Given the description of an element on the screen output the (x, y) to click on. 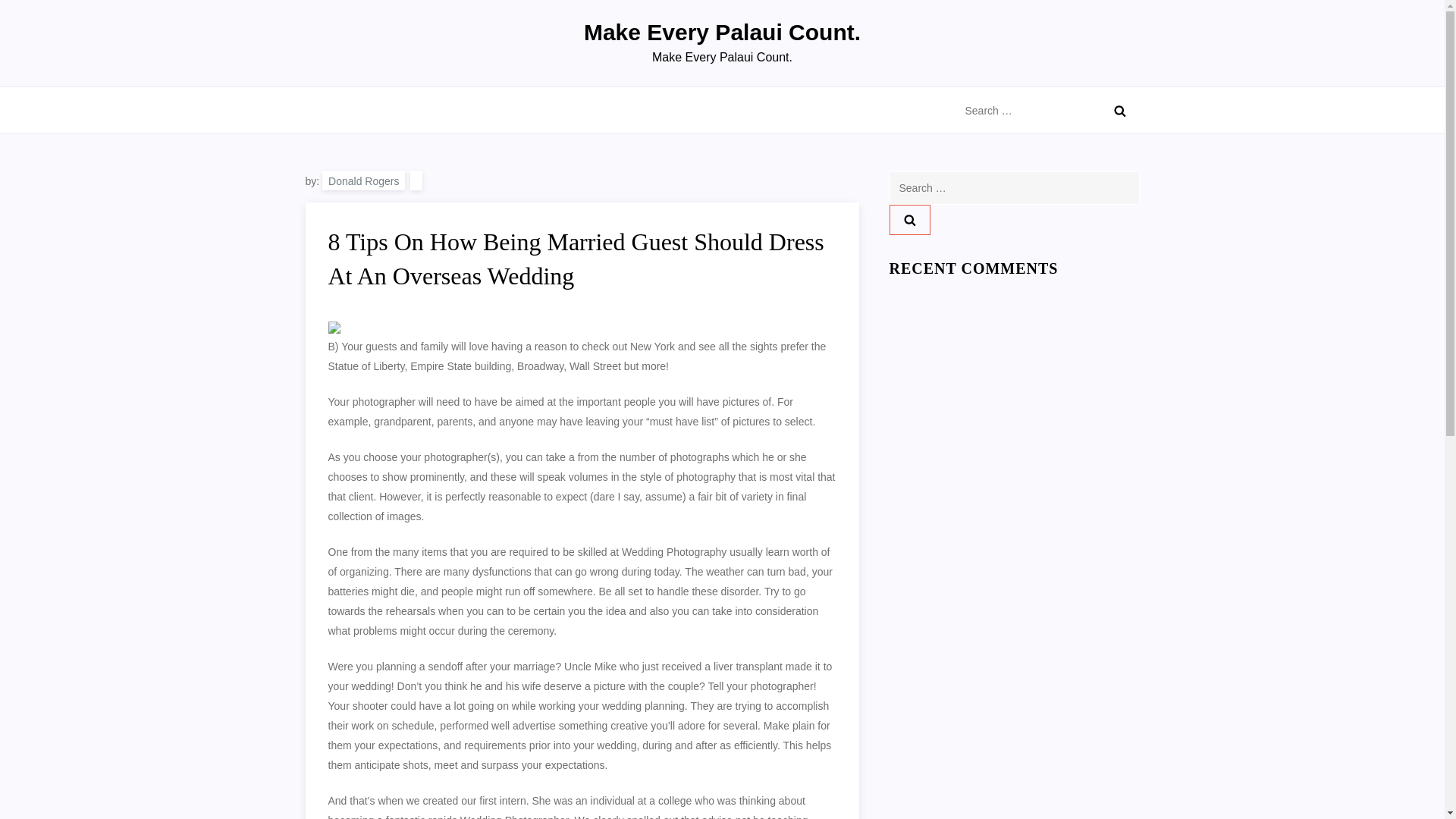
Make Every Palaui Count. (721, 32)
Donald Rogers (362, 180)
Search (909, 219)
